Given the description of an element on the screen output the (x, y) to click on. 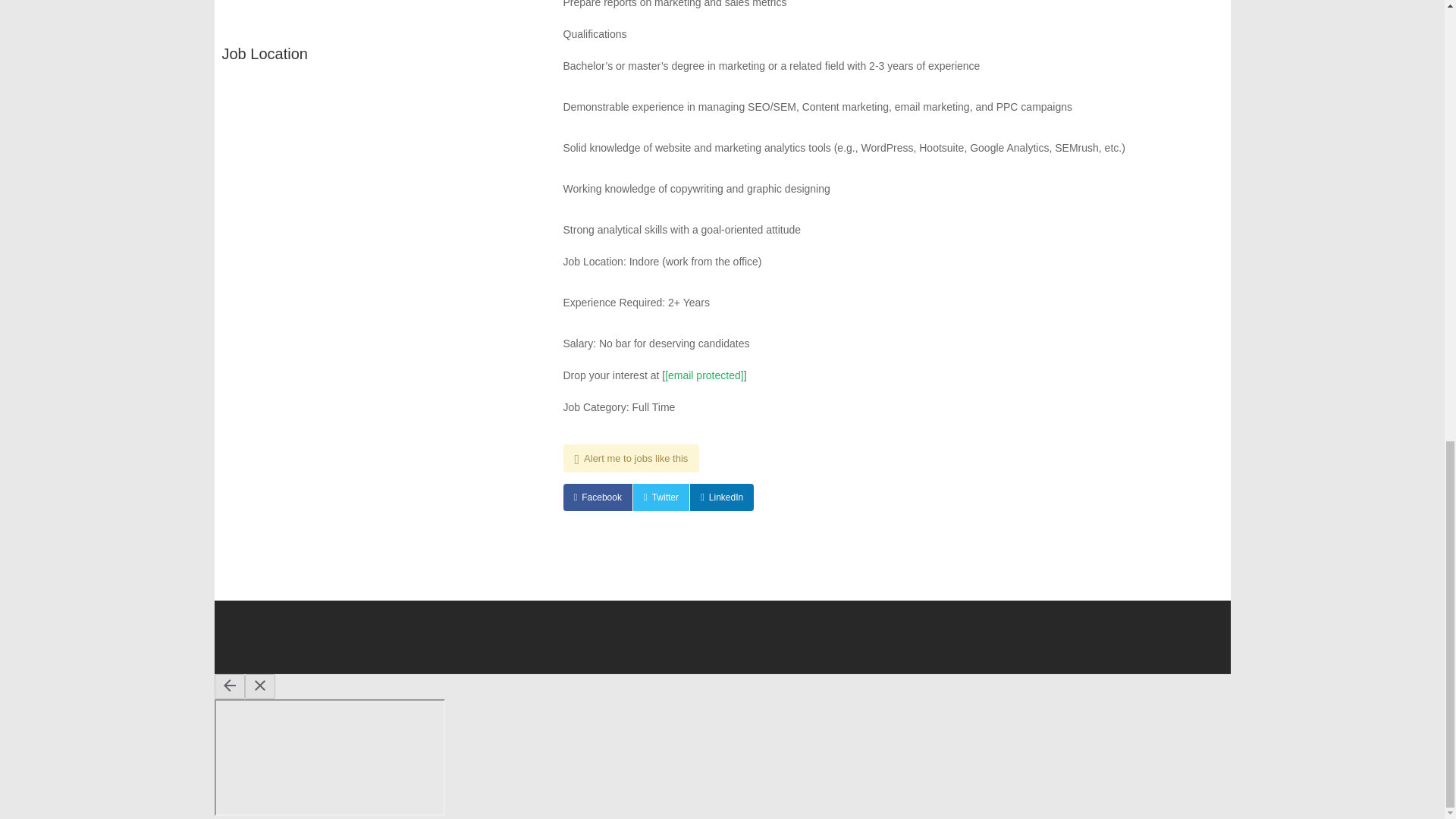
Alert me to jobs like this (630, 458)
Twitter (660, 497)
LinkedIn (722, 497)
Twitter (660, 497)
Facebook (596, 497)
